Given the description of an element on the screen output the (x, y) to click on. 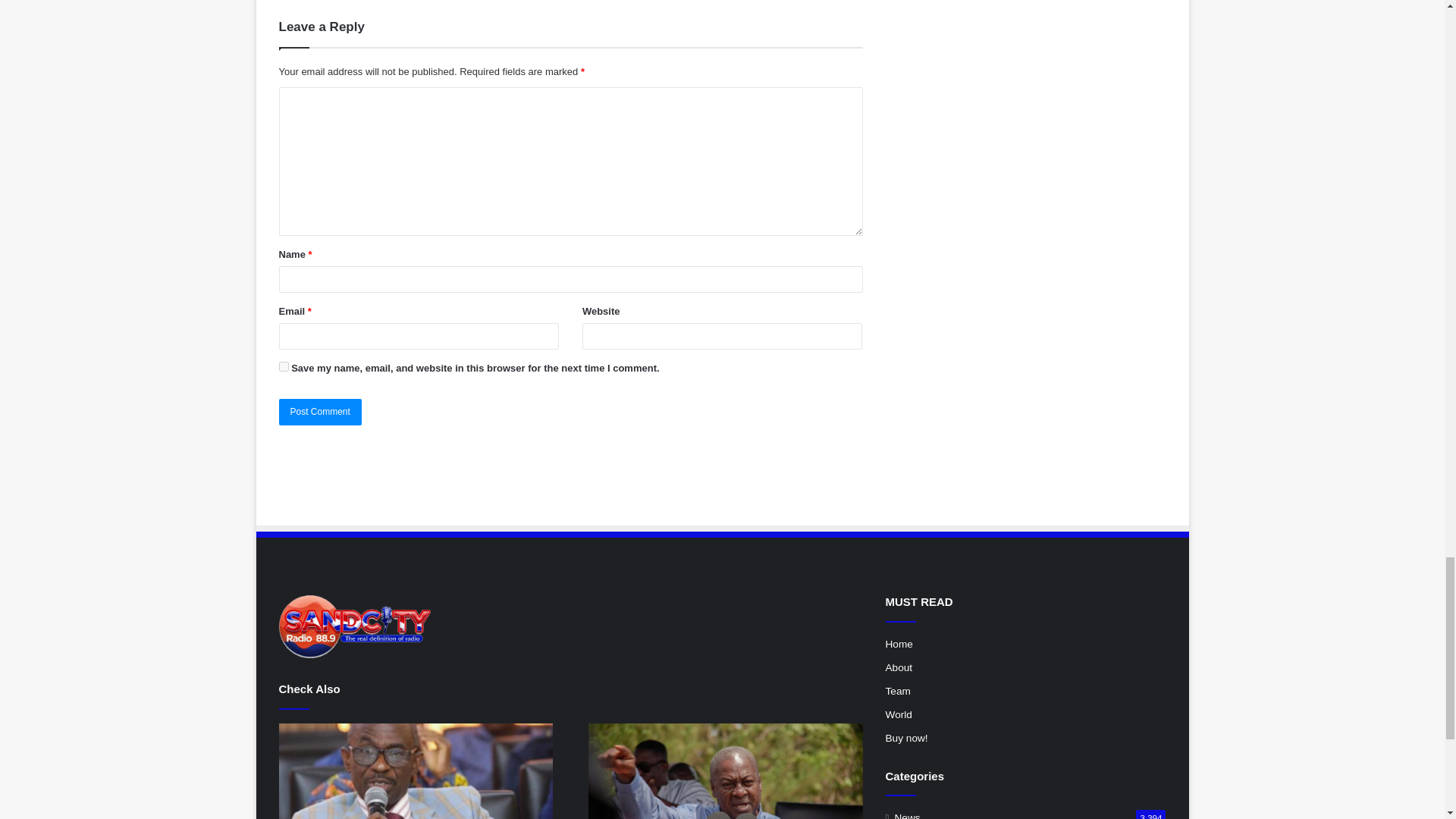
yes (283, 366)
Post Comment (320, 411)
Buy now! (906, 737)
